Given the description of an element on the screen output the (x, y) to click on. 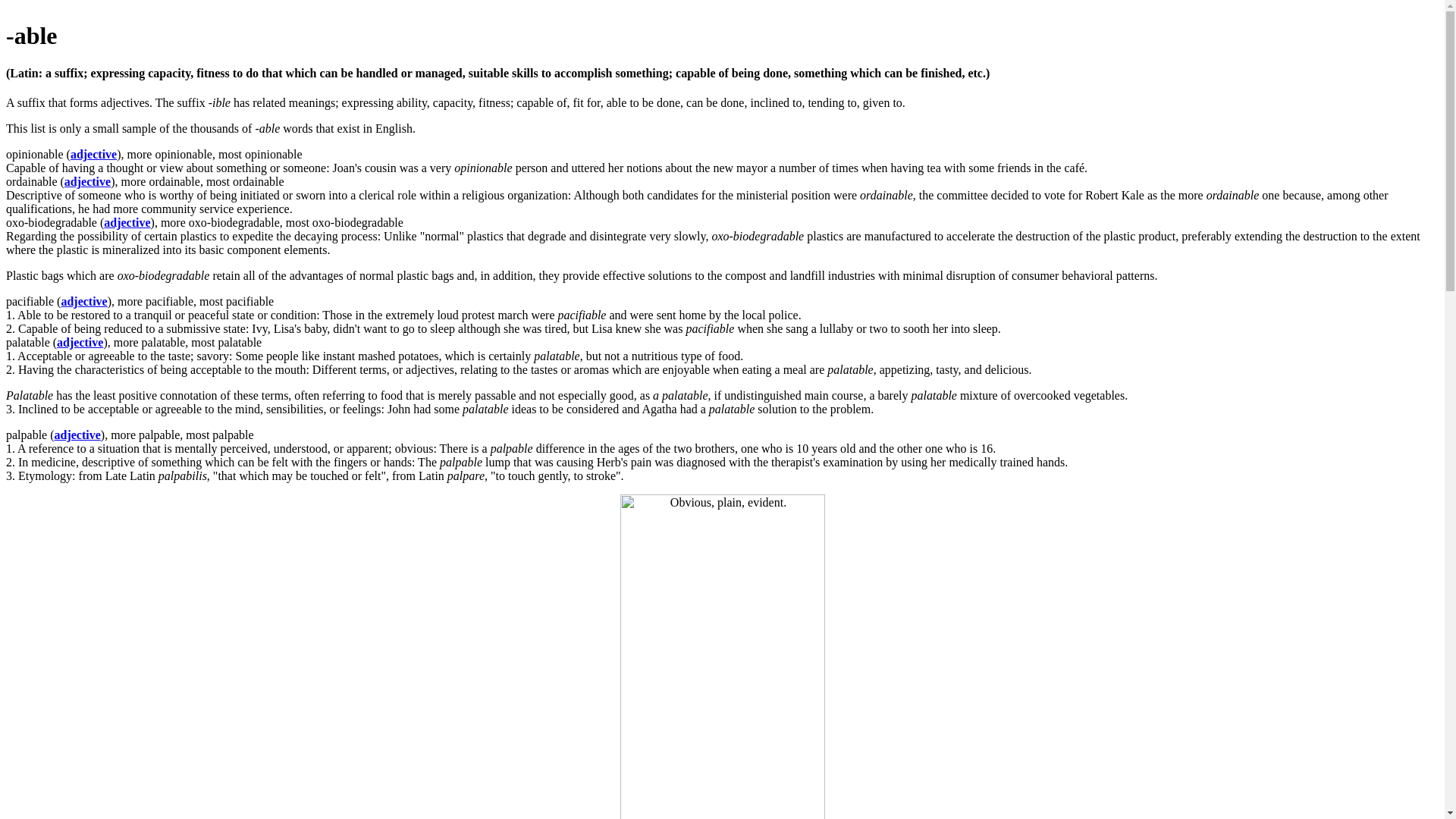
adjective (77, 434)
adjective (126, 222)
adjective (83, 300)
adjective (79, 341)
adjective (92, 154)
adjective (87, 181)
